Given the description of an element on the screen output the (x, y) to click on. 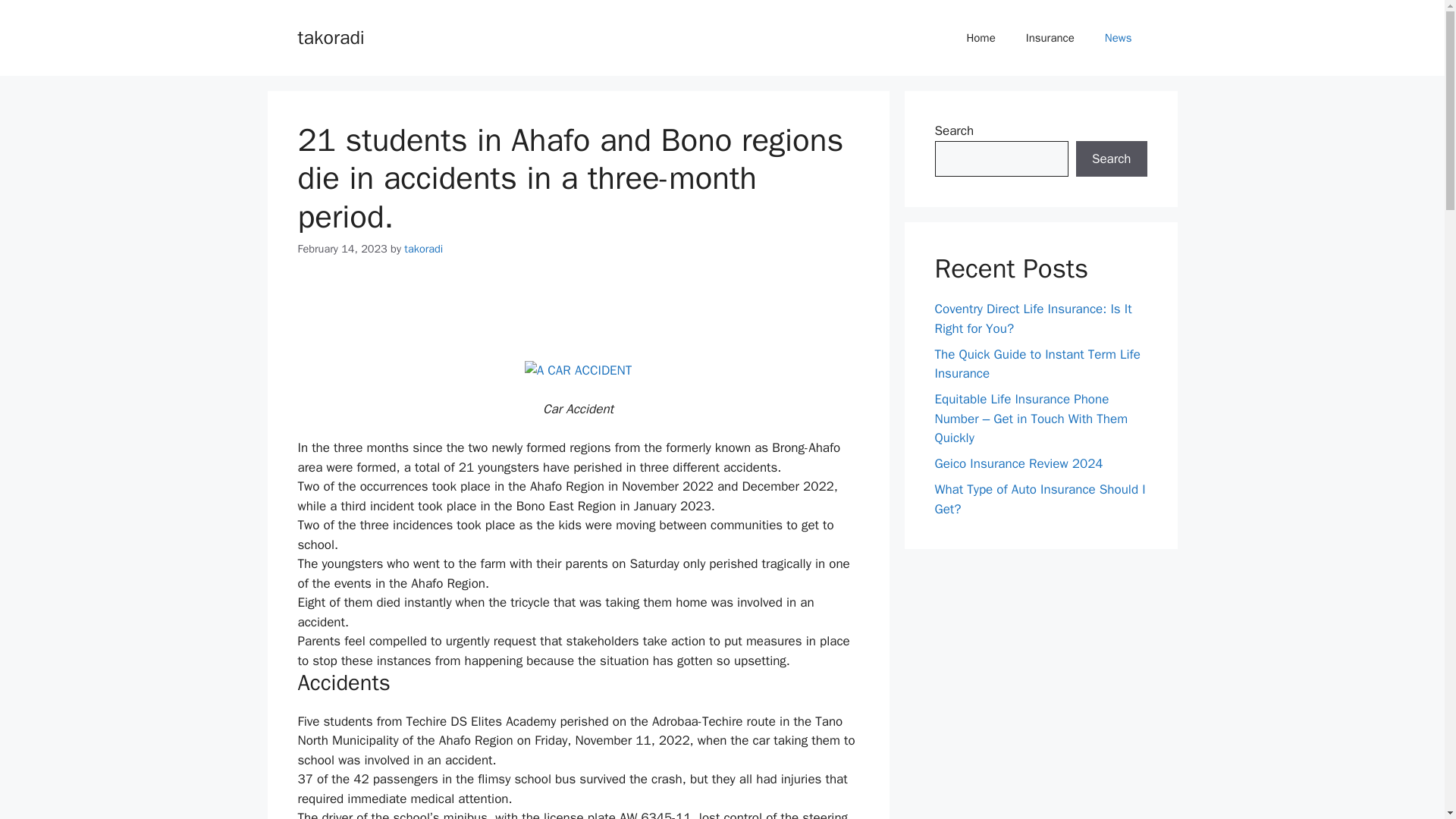
takoradi (423, 248)
What Type of Auto Insurance Should I Get? (1039, 498)
takoradi (330, 37)
Coventry Direct Life Insurance: Is It Right for You? (1032, 318)
View all posts by takoradi (423, 248)
News (1118, 37)
Home (980, 37)
Search (1111, 158)
Insurance (1049, 37)
The Quick Guide to Instant Term Life Insurance (1037, 363)
Geico Insurance Review 2024 (1018, 463)
